Given the description of an element on the screen output the (x, y) to click on. 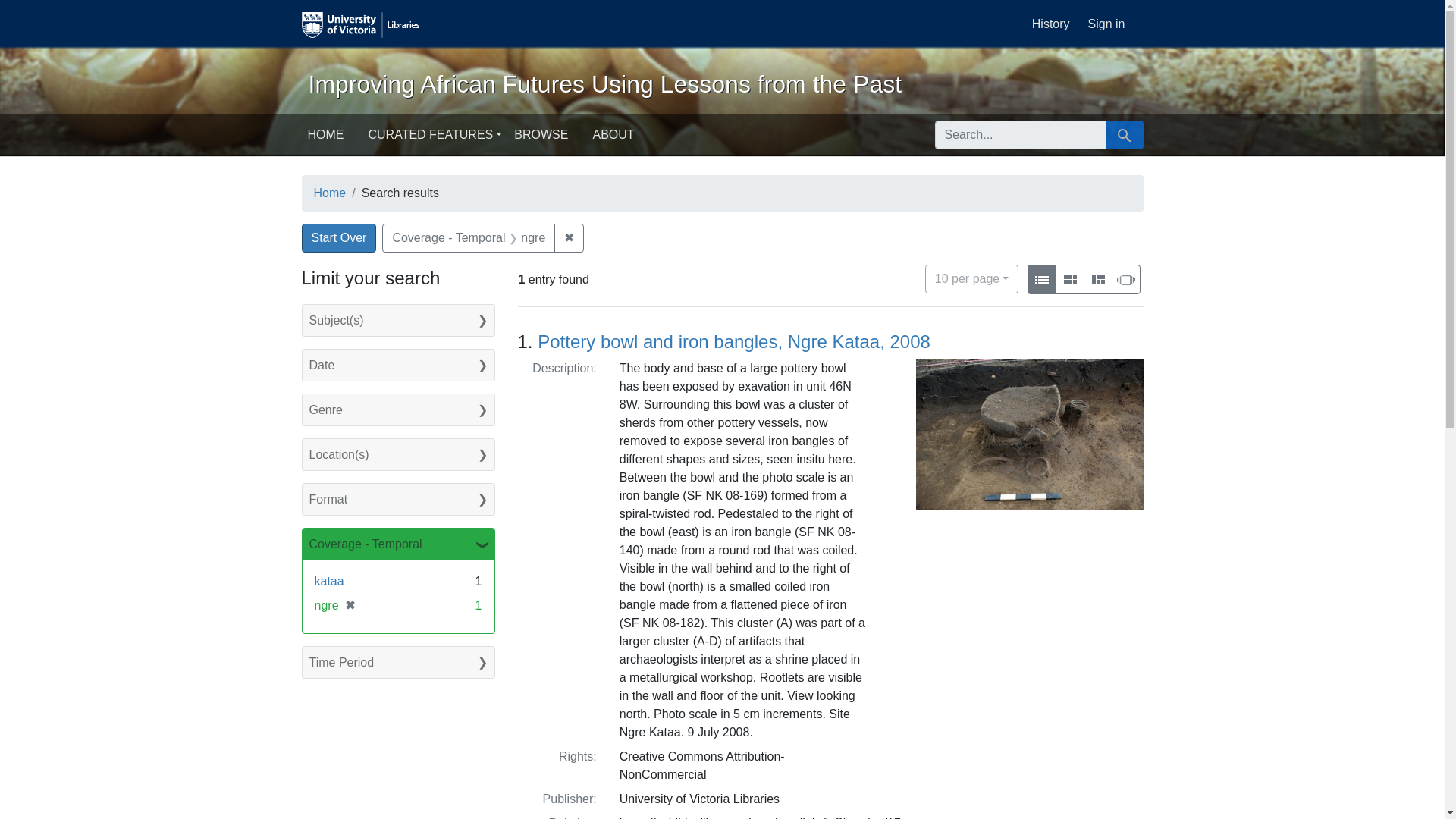
List (1041, 280)
Home (330, 192)
Masonry (1097, 280)
ABOUT (970, 278)
CURATED FEATURES (1069, 279)
List (613, 134)
Start Over (435, 134)
Sign in (1040, 279)
Skip to main content (339, 237)
Slideshow (1106, 24)
HOME (39, 9)
Skip to search (1125, 280)
Masonry (325, 134)
